Given the description of an element on the screen output the (x, y) to click on. 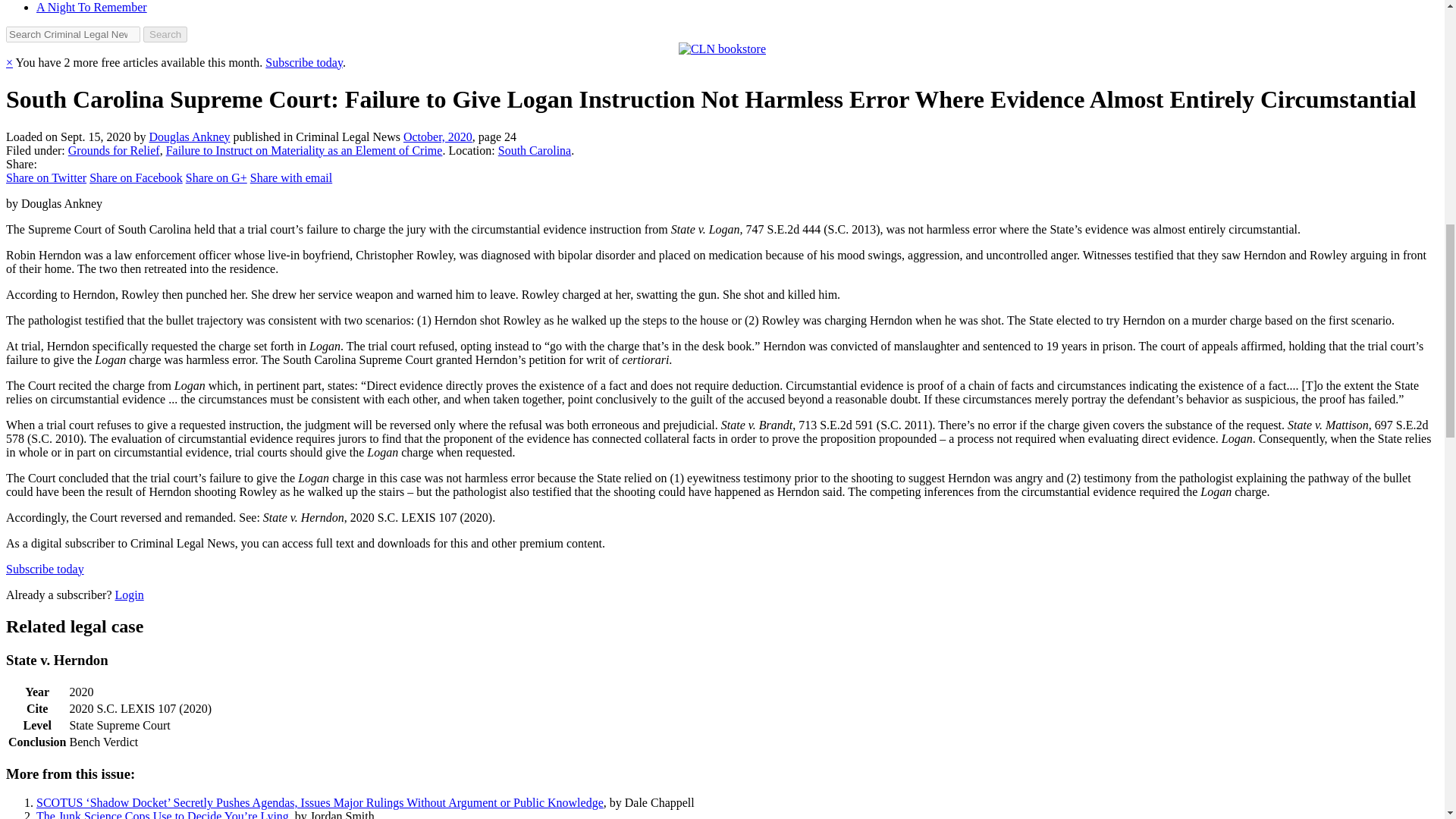
Share on Twitter (45, 177)
Subscribe today (303, 62)
Share on Facebook (135, 177)
Search (164, 34)
Share with email (290, 177)
A Night To Remember (91, 6)
